Given the description of an element on the screen output the (x, y) to click on. 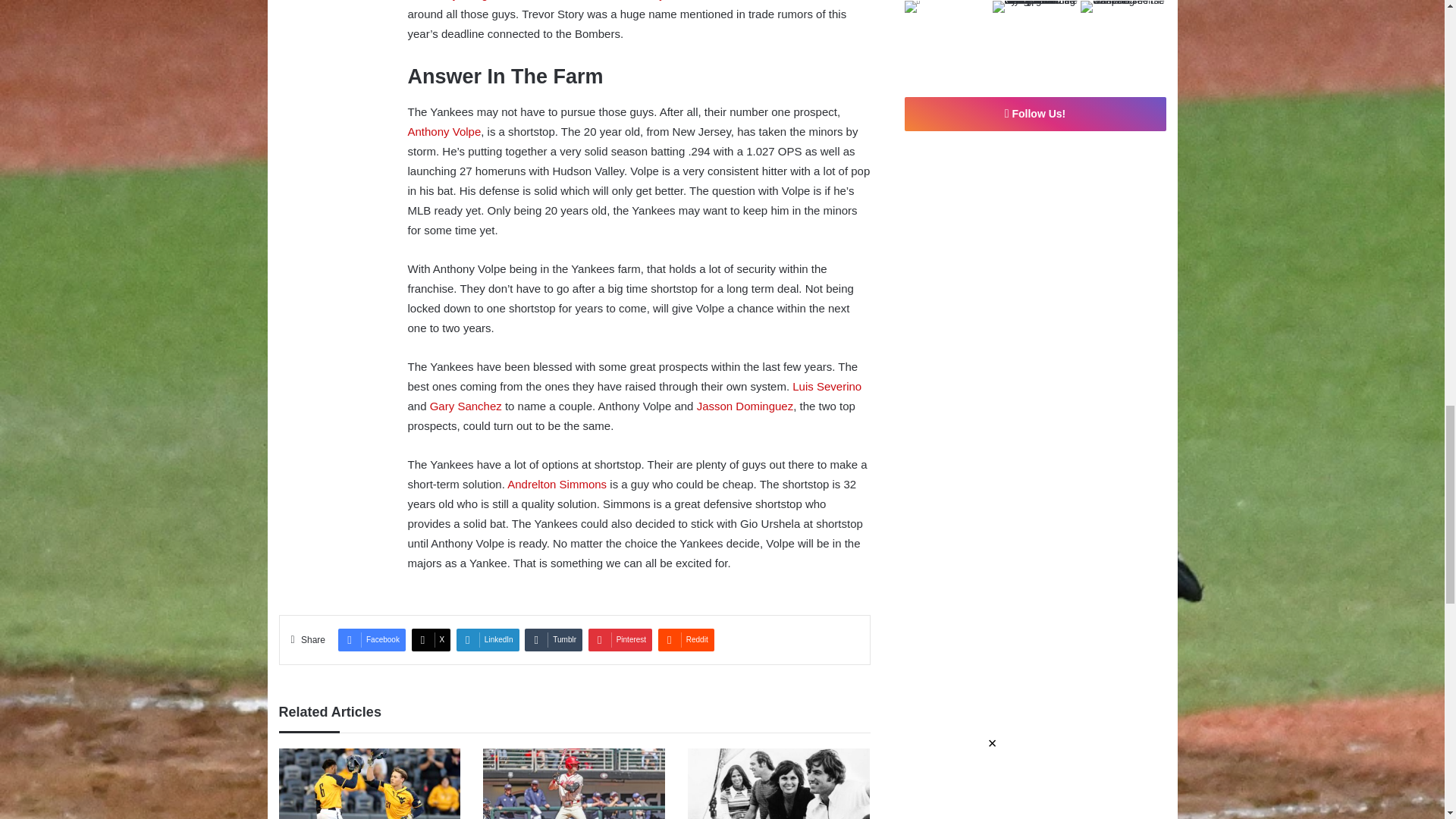
X (431, 639)
Facebook (371, 639)
